Given the description of an element on the screen output the (x, y) to click on. 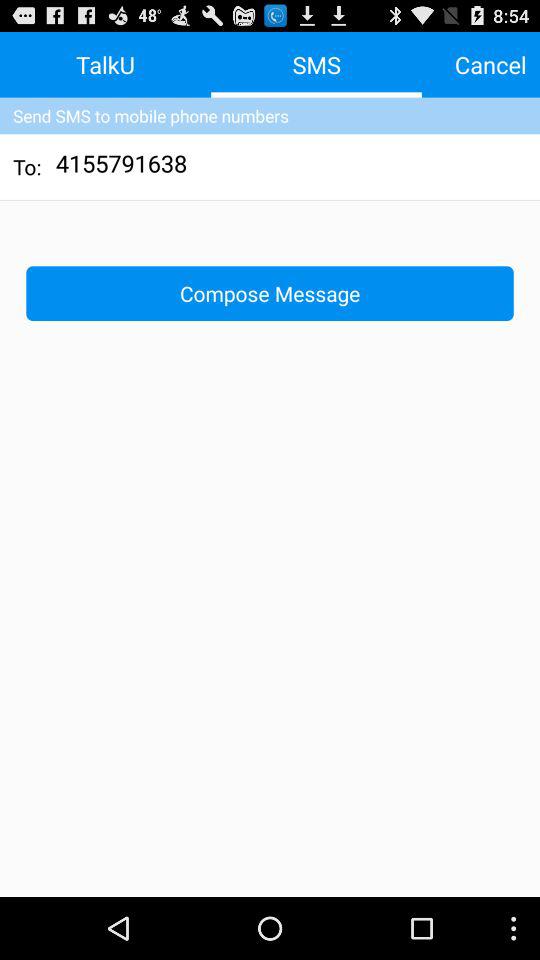
open the item next to to: app (122, 166)
